Given the description of an element on the screen output the (x, y) to click on. 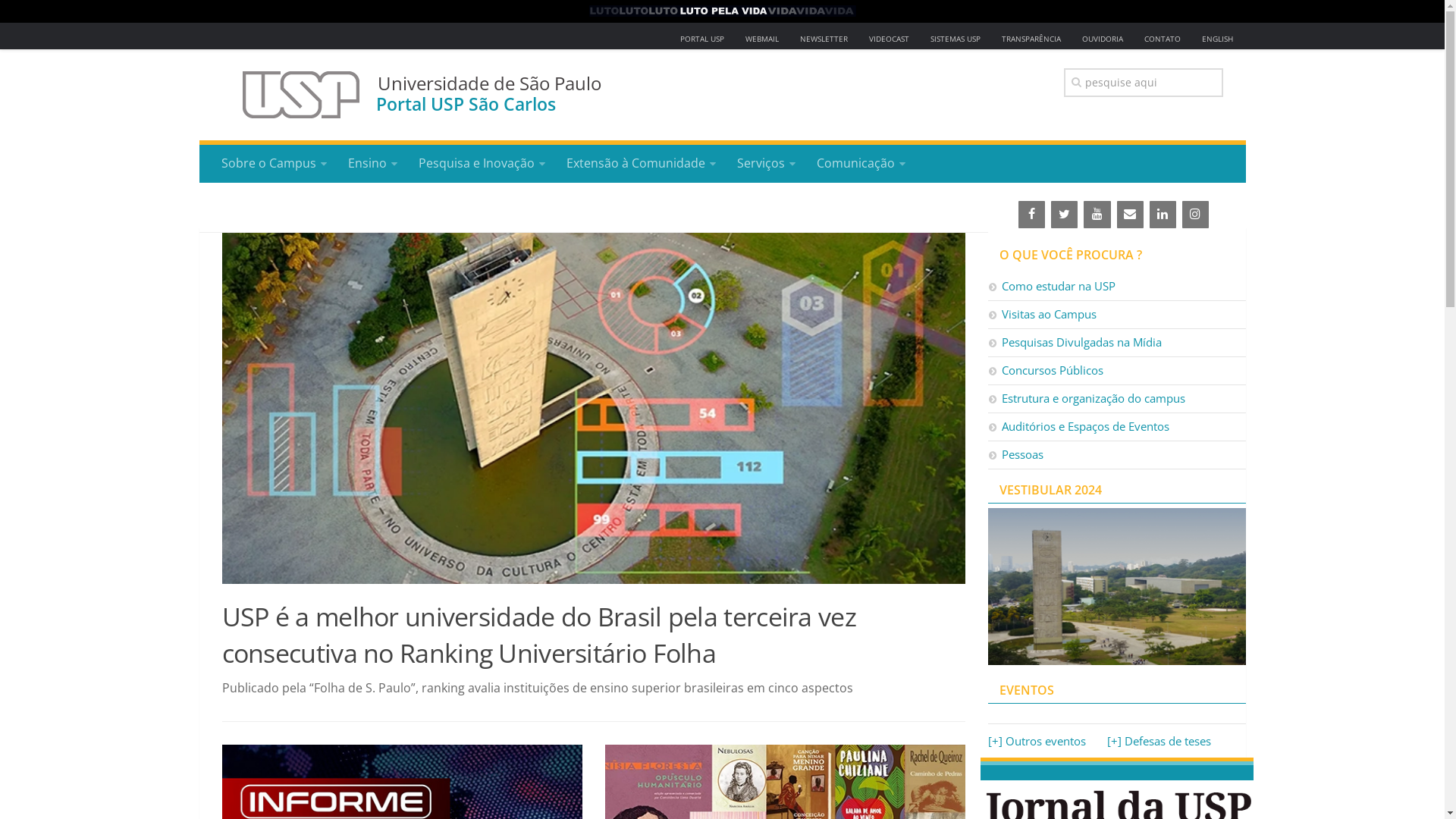
Ensino Element type: text (371, 163)
[+] Outros eventos Element type: text (1036, 740)
Como estudar na USP Element type: text (1116, 287)
Pessoas Element type: text (1116, 455)
OUVIDORIA Element type: text (1102, 38)
Instagram Element type: hover (1195, 214)
Twitter Element type: hover (1064, 214)
LinkedIn Element type: hover (1162, 214)
[+] Defesas de teses Element type: text (1159, 740)
Facebook Element type: hover (1031, 214)
NEWSLETTER Element type: text (823, 38)
Contact Element type: hover (1129, 214)
YouTube Element type: hover (1096, 214)
ENGLISH Element type: text (1217, 38)
SISTEMAS USP Element type: text (955, 38)
CONTATO Element type: text (1162, 38)
PORTAL USP Element type: text (701, 38)
Visitas ao Campus Element type: text (1116, 315)
WEBMAIL Element type: text (761, 38)
VIDEOCAST Element type: text (888, 38)
Sobre o Campus Element type: text (273, 163)
